Given the description of an element on the screen output the (x, y) to click on. 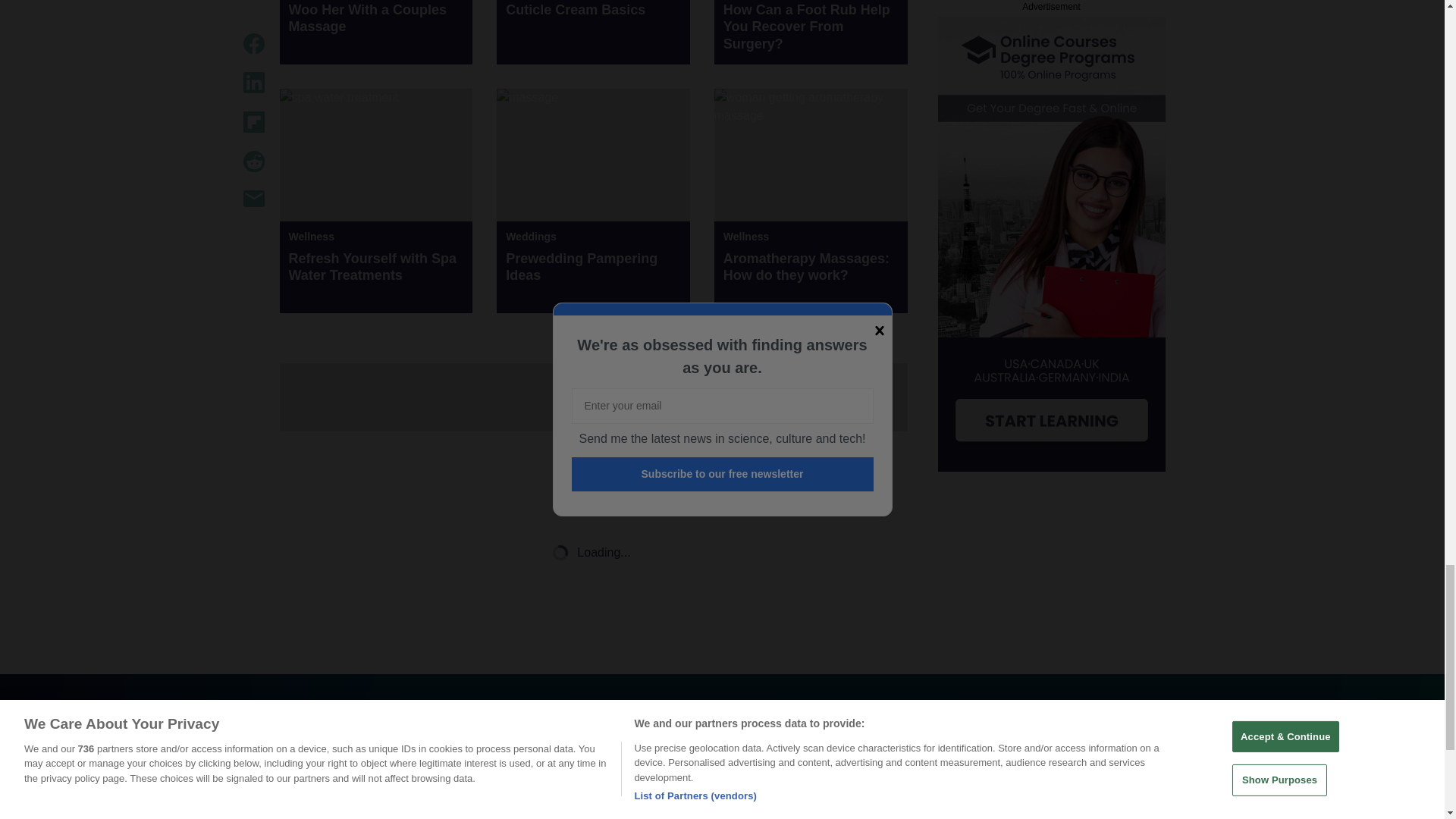
Subscribe (833, 797)
